Given the description of an element on the screen output the (x, y) to click on. 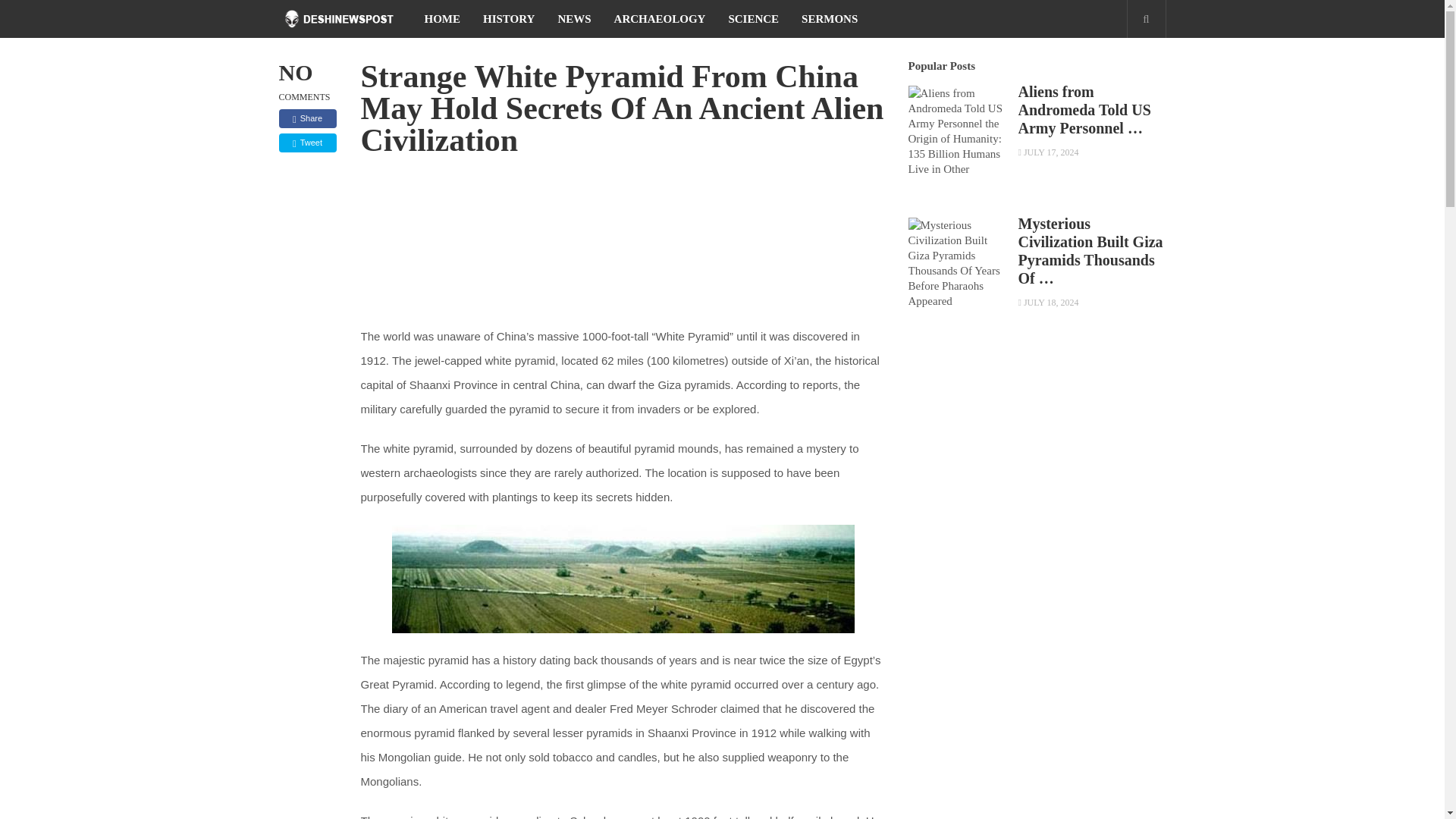
ARCHAEOLOGY (659, 18)
HISTORY (508, 18)
NEWS (574, 18)
Tweet (307, 142)
SERMONS (829, 18)
HOME (441, 18)
Share (307, 117)
SCIENCE (753, 18)
